Given the description of an element on the screen output the (x, y) to click on. 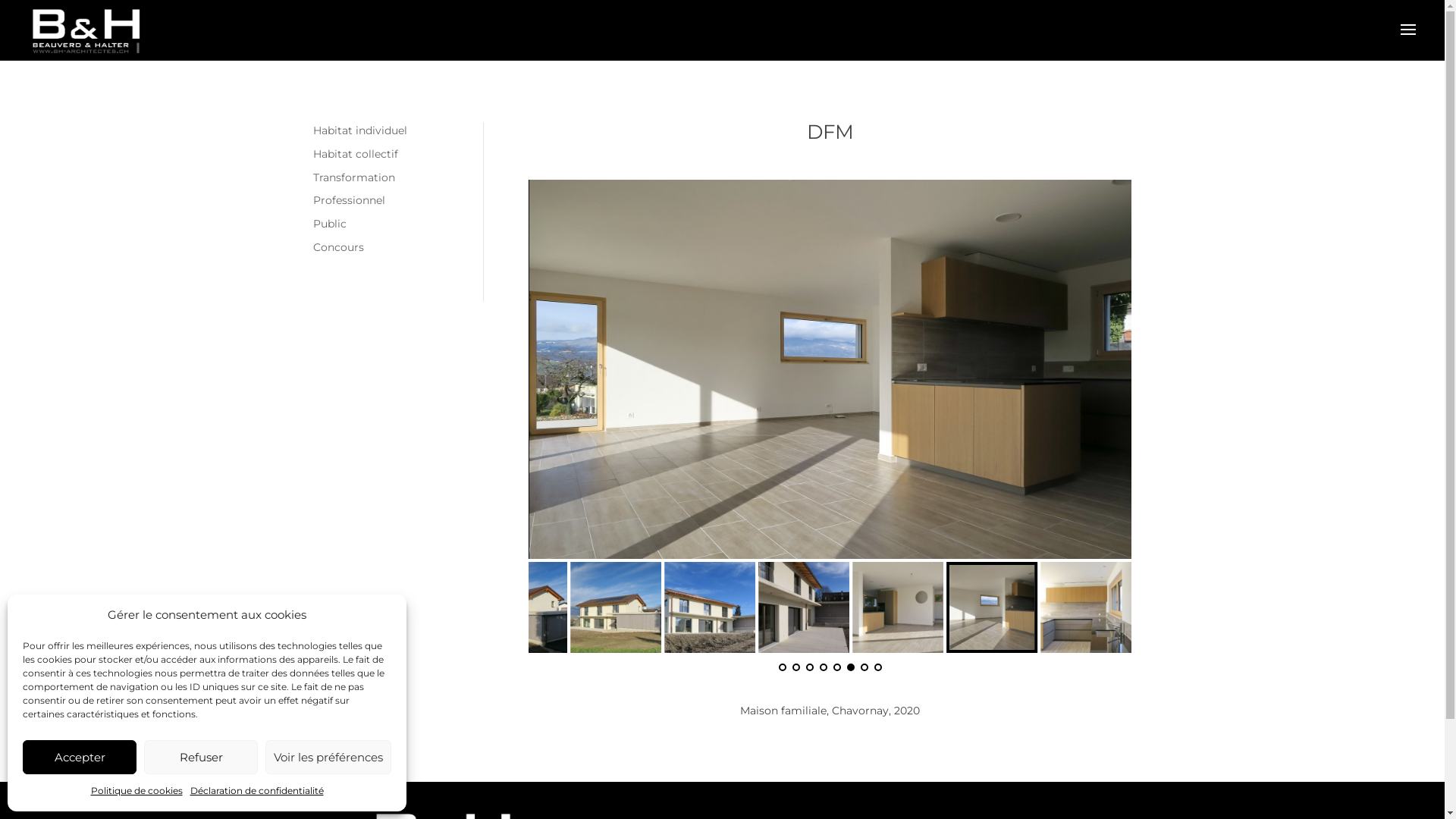
Transformation Element type: text (353, 177)
Professionnel Element type: text (348, 200)
Politique de cookies Element type: text (136, 790)
Habitat collectif Element type: text (354, 153)
Accepter Element type: text (79, 757)
Public Element type: text (328, 223)
Concours Element type: text (337, 247)
Habitat individuel Element type: text (359, 130)
Refuser Element type: text (200, 757)
